Given the description of an element on the screen output the (x, y) to click on. 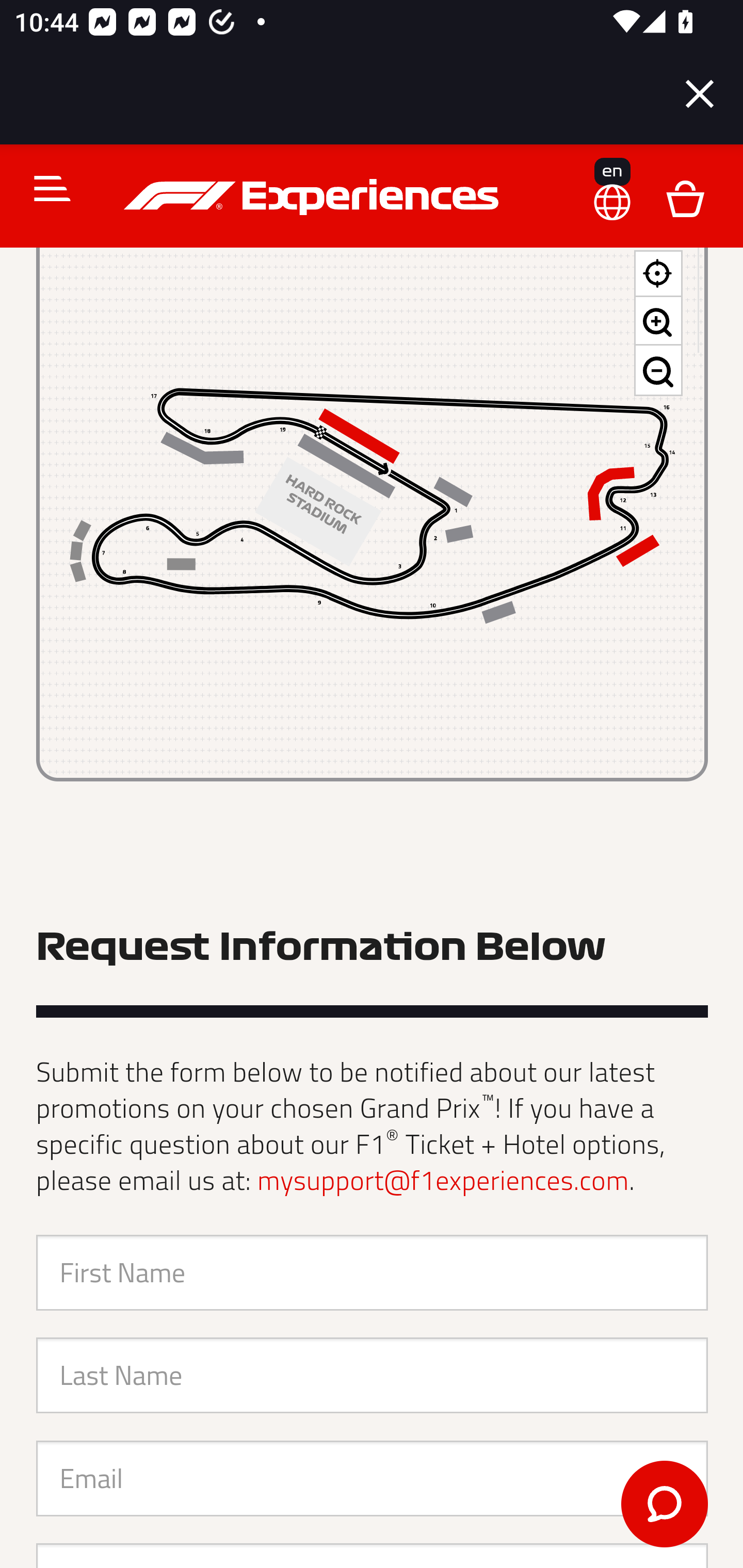
Close (699, 93)
Toggle navigation C (43, 190)
D (684, 198)
f1experiences (313, 198)
mysupport@f1experiences.com (443, 1182)
